Given the description of an element on the screen output the (x, y) to click on. 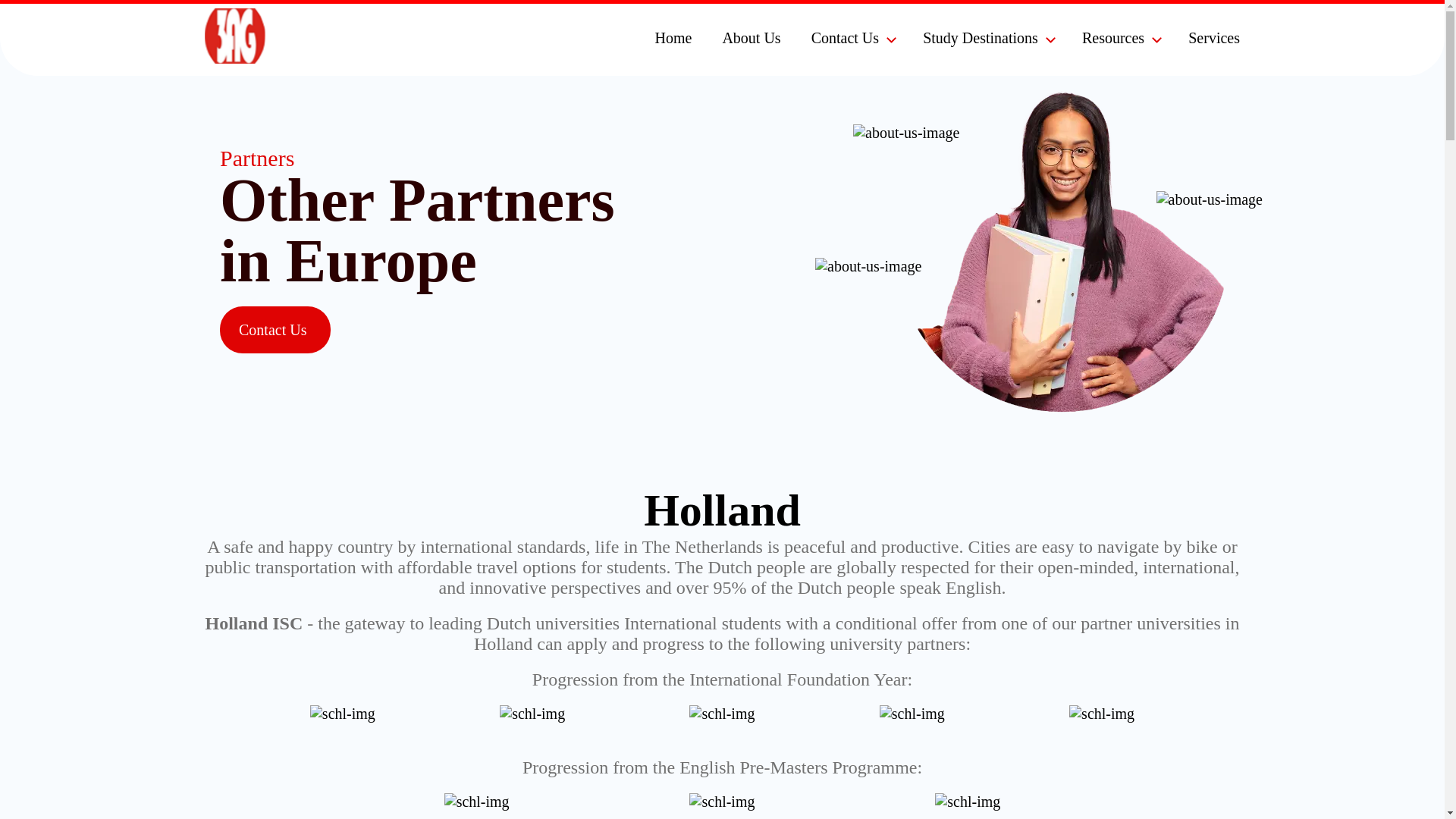
Home Element type: text (675, 36)
Study Destinations Element type: text (981, 36)
About Us Element type: text (752, 36)
Resources Element type: text (1115, 36)
Contact Us Element type: text (846, 36)
Contact Us Element type: text (274, 329)
Services Element type: text (1215, 36)
